Given the description of an element on the screen output the (x, y) to click on. 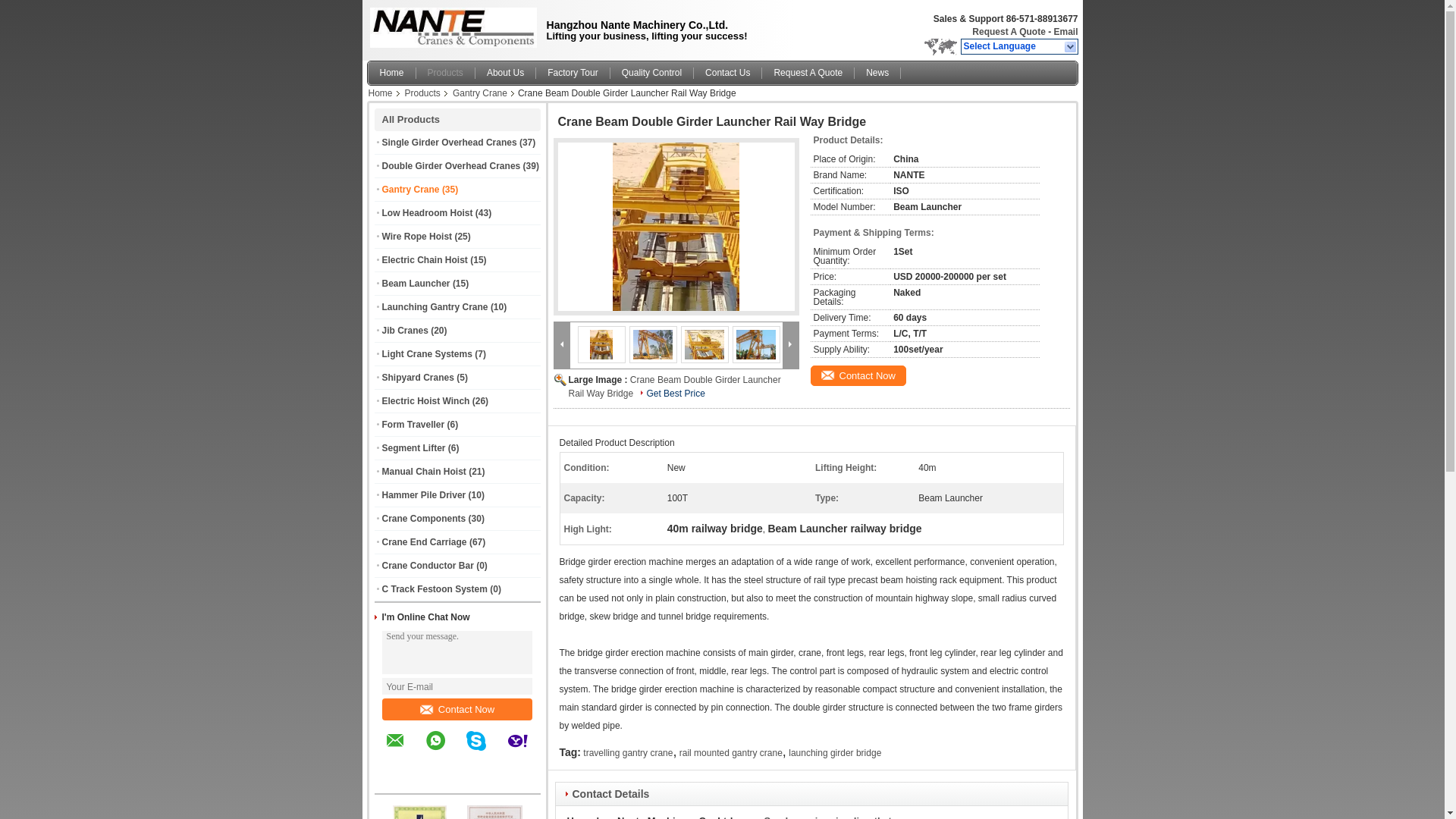
Home (392, 72)
Quality Control (652, 72)
Single Girder Overhead Cranes (448, 142)
China Single Girder Overhead Cranes manufacturer (449, 26)
Low Headroom Hoist (427, 213)
Email (1064, 31)
Wire Rope Hoist (416, 235)
Hangzhou Nante Machinery Co.,Ltd. (1070, 47)
About Us (505, 72)
Request A Quote (1008, 31)
Contact Us (727, 72)
Factory Tour (572, 72)
Gantry Crane (479, 92)
Request A Quote (807, 72)
Gantry Crane (410, 189)
